Given the description of an element on the screen output the (x, y) to click on. 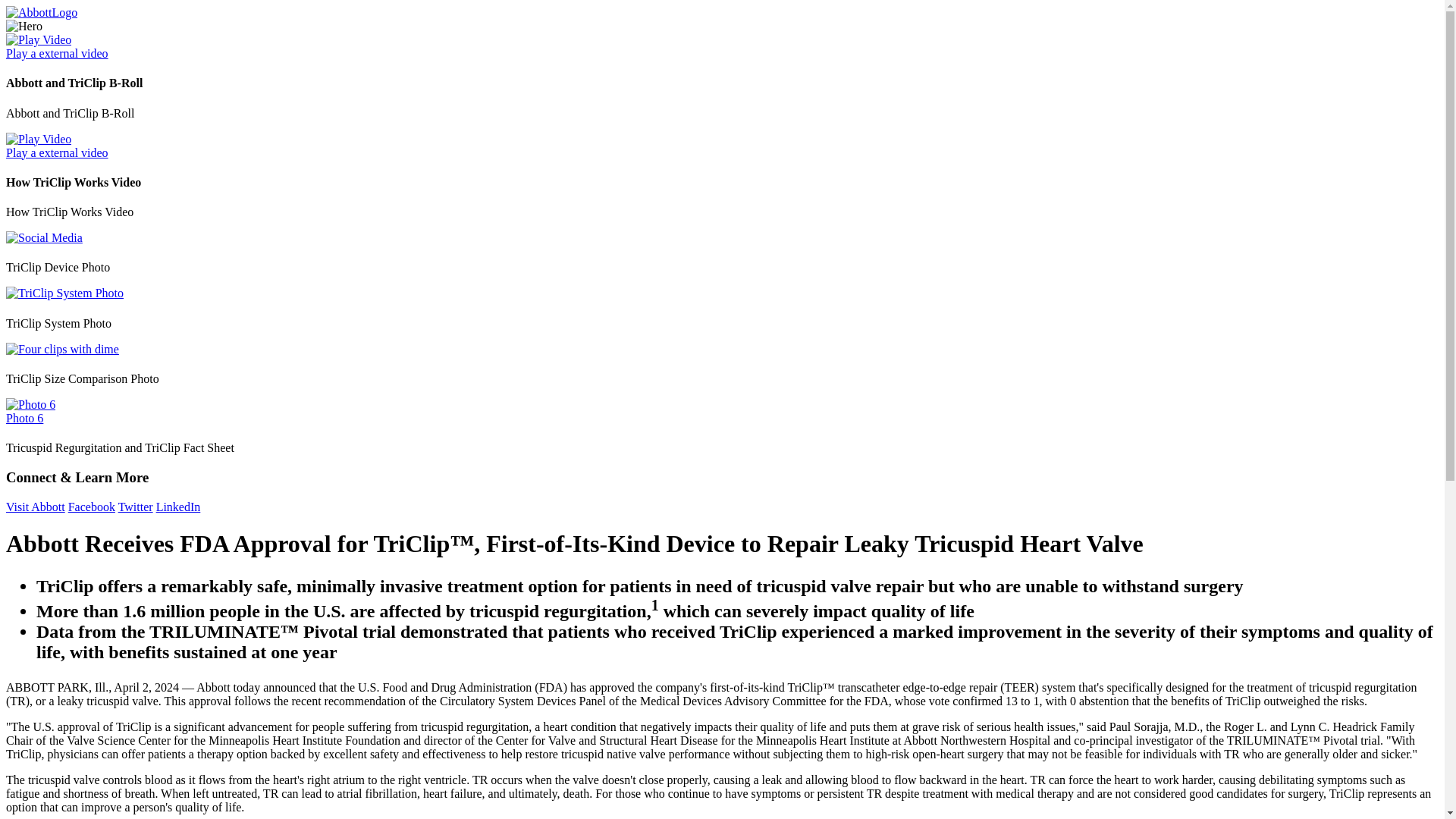
Visit Abbott (35, 506)
Twitter (134, 506)
LinkedIn (177, 506)
Abbott (91, 506)
Abbott (41, 11)
Facebook (91, 506)
